Given the description of an element on the screen output the (x, y) to click on. 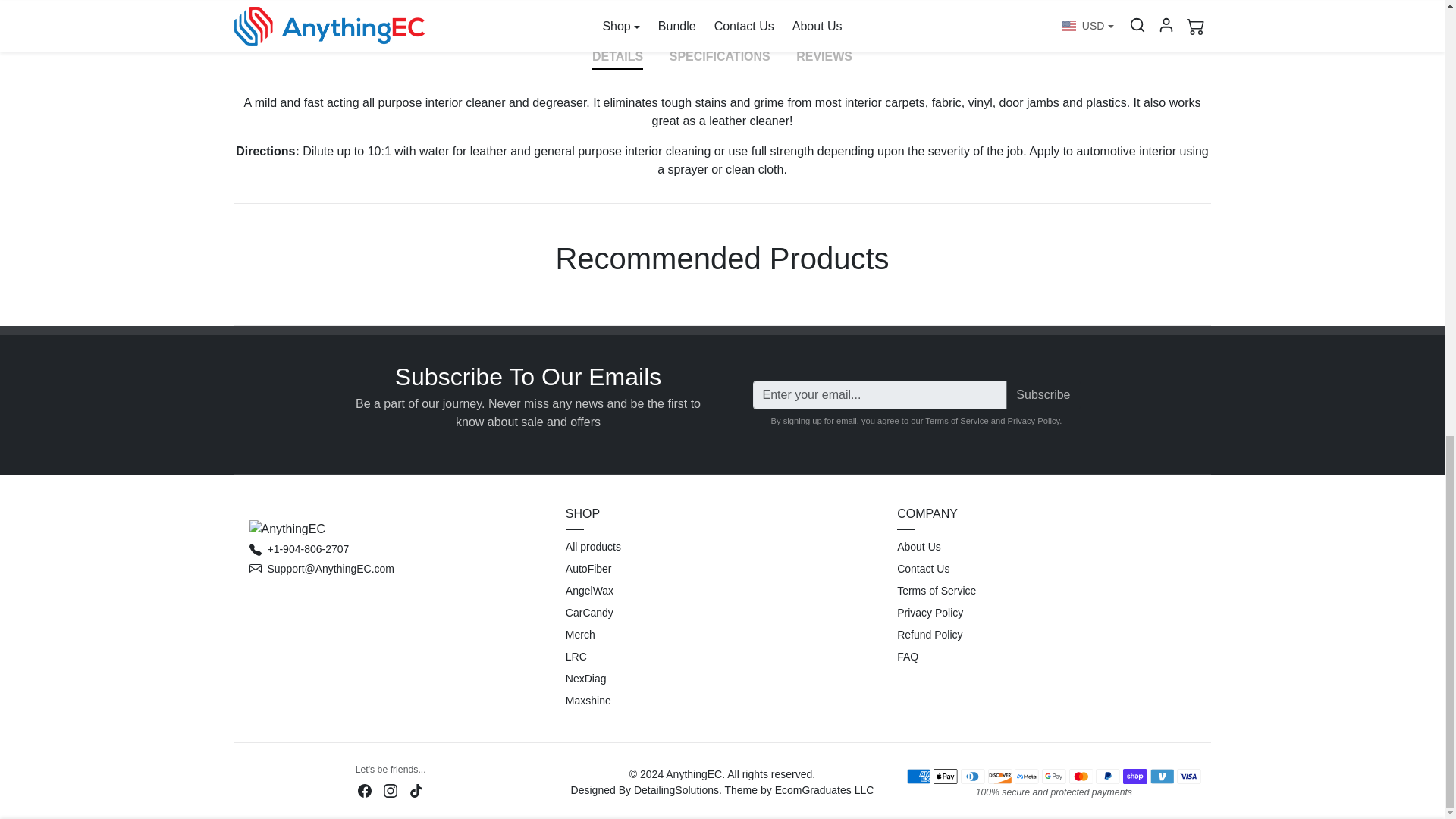
Paypal (1107, 775)
ShopifyPay (1134, 775)
DinersClub (973, 775)
GooglePay (1054, 775)
Facebook (364, 789)
Master (1080, 775)
Venmo (1162, 775)
FacebookPay (1027, 775)
American Express (918, 776)
AmericanExpress (919, 775)
